Given the description of an element on the screen output the (x, y) to click on. 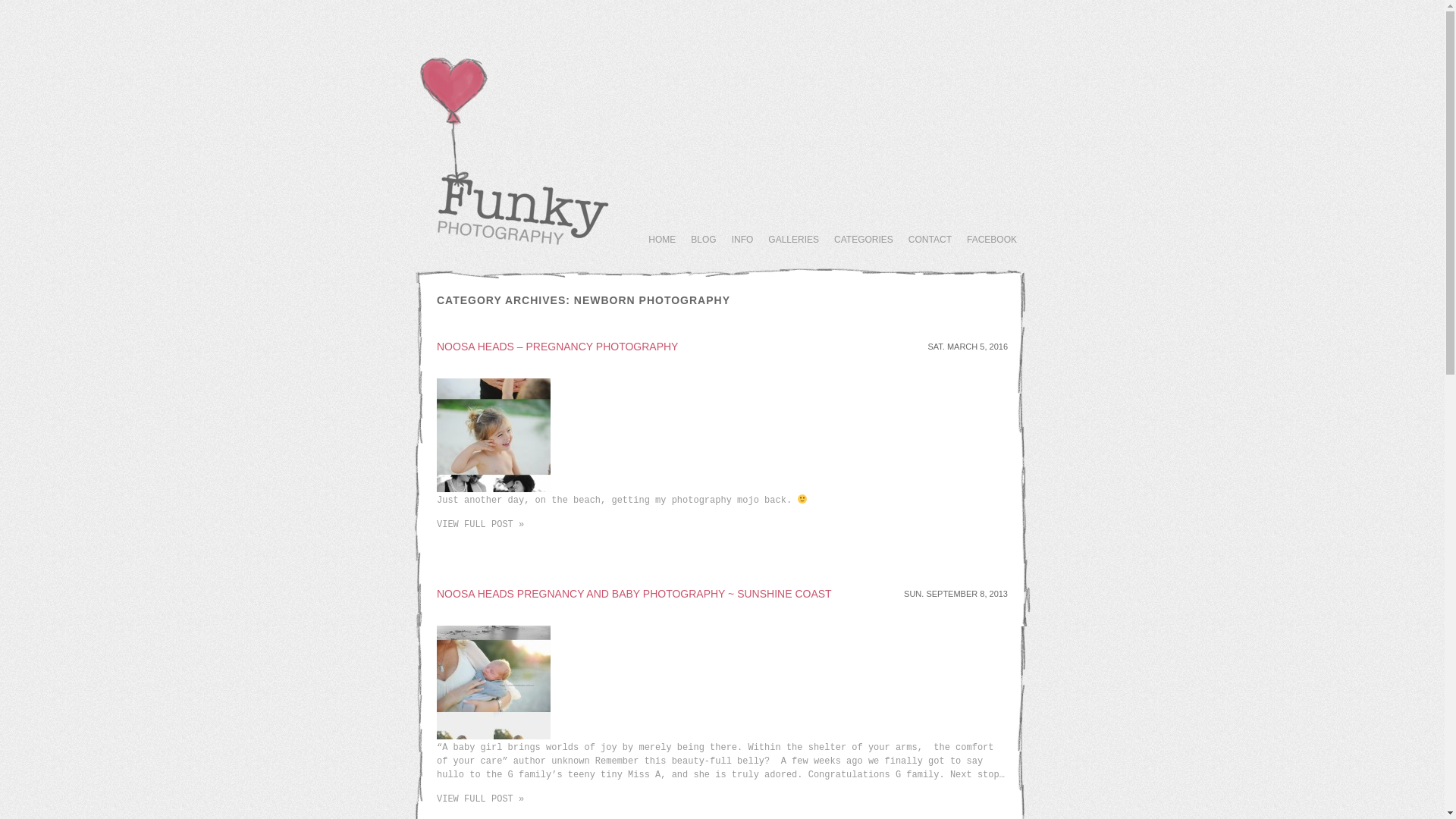
GALLERIES Element type: text (793, 239)
CATEGORIES Element type: text (863, 239)
CONTACT Element type: text (929, 239)
BLOG Element type: text (702, 239)
HOME Element type: text (661, 239)
FACEBOOK Element type: text (991, 239)
funkyphotography.com.au Element type: hover (515, 249)
INFO Element type: text (742, 239)
NOOSA HEADS PREGNANCY AND BABY PHOTOGRAPHY ~ SUNSHINE COAST Element type: text (633, 593)
